Given the description of an element on the screen output the (x, y) to click on. 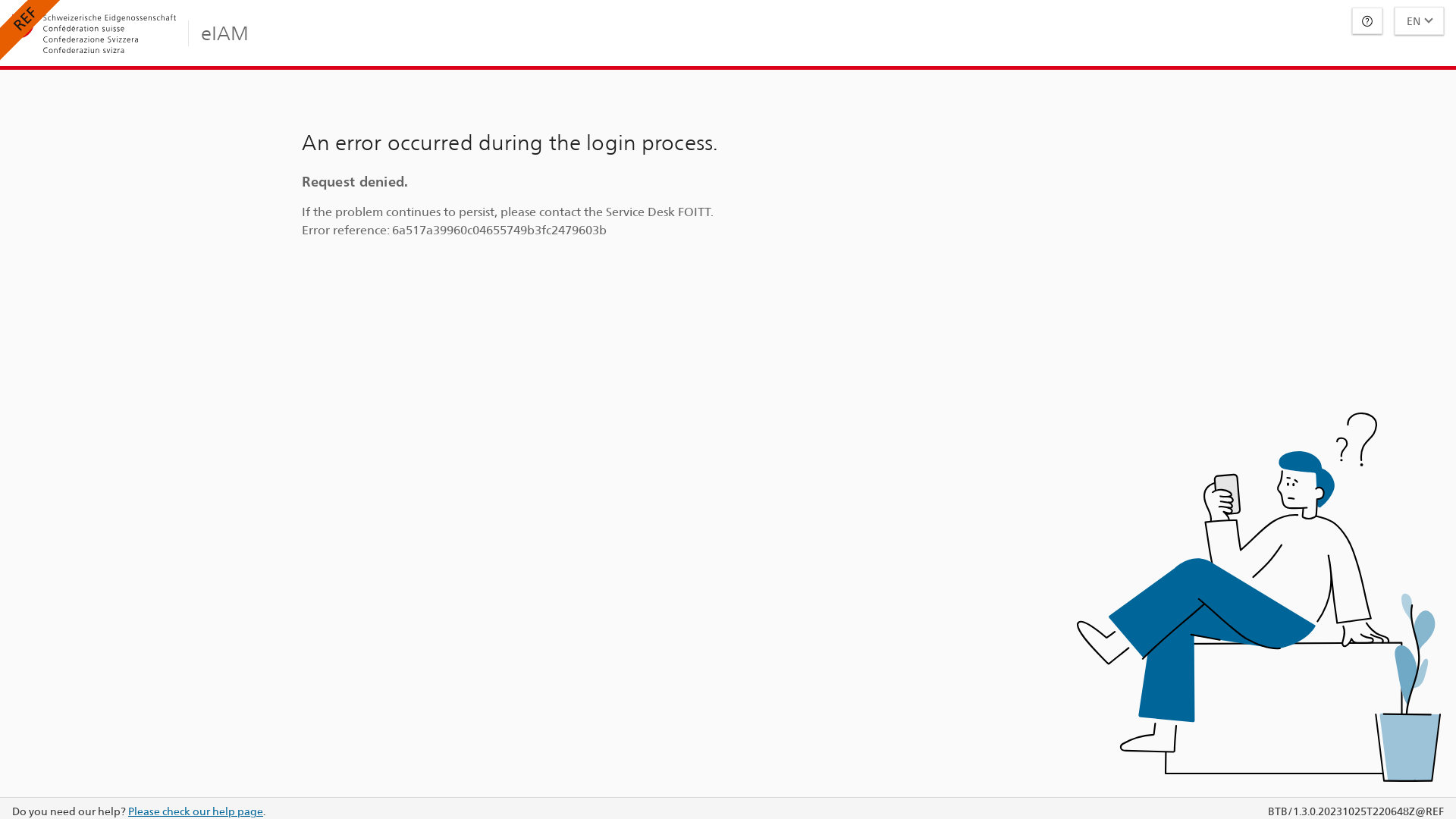
Please check our help page Element type: text (195, 811)
EN Element type: text (1418, 20)
